Given the description of an element on the screen output the (x, y) to click on. 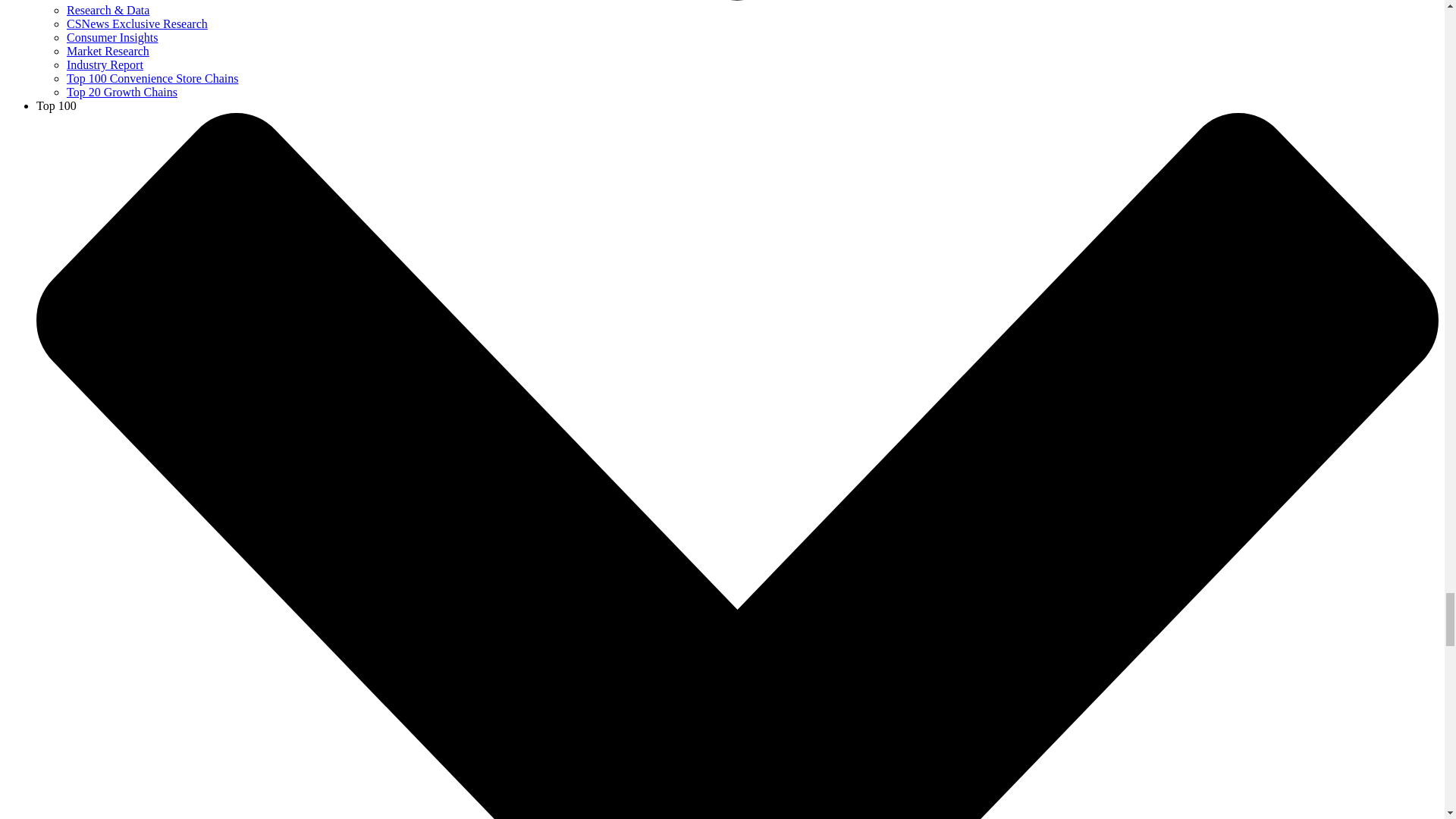
Industry Report (104, 64)
Consumer Insights (111, 37)
CSNews Exclusive Research (137, 23)
Top 20 Growth Chains (121, 91)
Top 100 Convenience Store Chains (152, 78)
Market Research (107, 51)
Top 100 (56, 105)
